Given the description of an element on the screen output the (x, y) to click on. 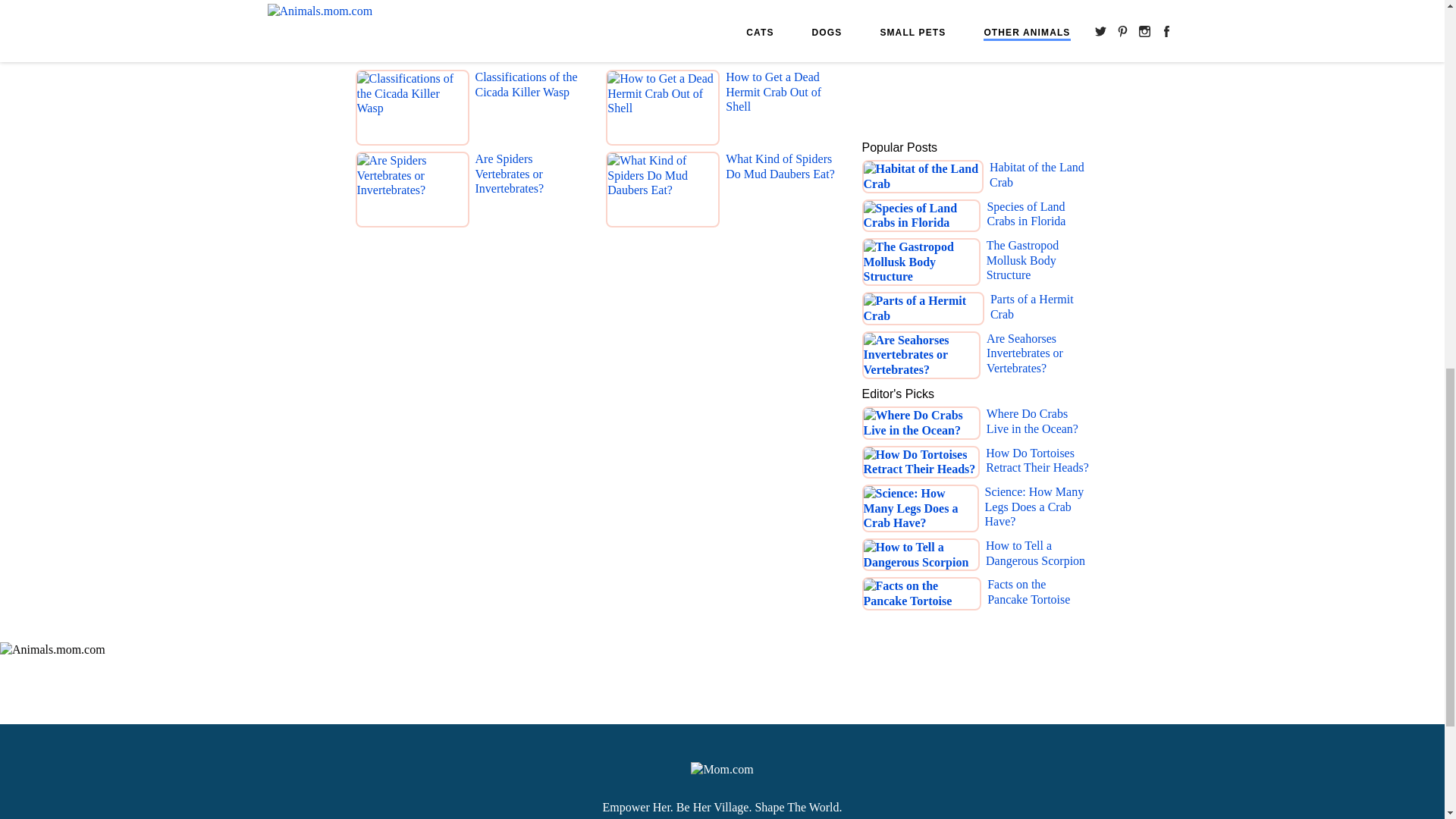
How to Get a Dead Hermit Crab Out of Shell (781, 110)
Classifications of the Cicada Killer Wasp (530, 110)
Are Spiders Vertebrates or Invertebrates? (530, 192)
What Kind of Spiders Do Mud Daubers Eat? (781, 192)
